Given the description of an element on the screen output the (x, y) to click on. 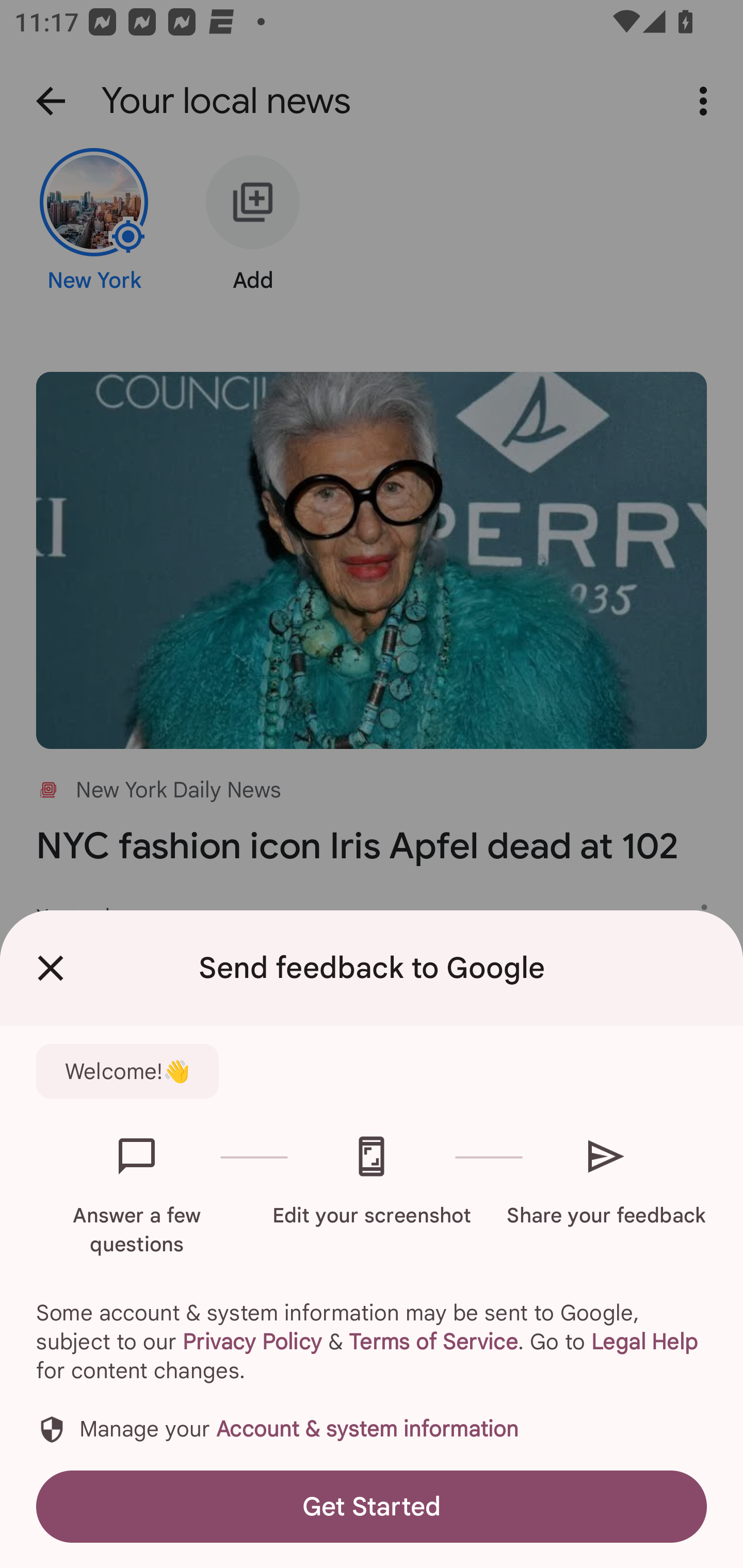
Close Feedback (50, 968)
Get Started (371, 1505)
